Given the description of an element on the screen output the (x, y) to click on. 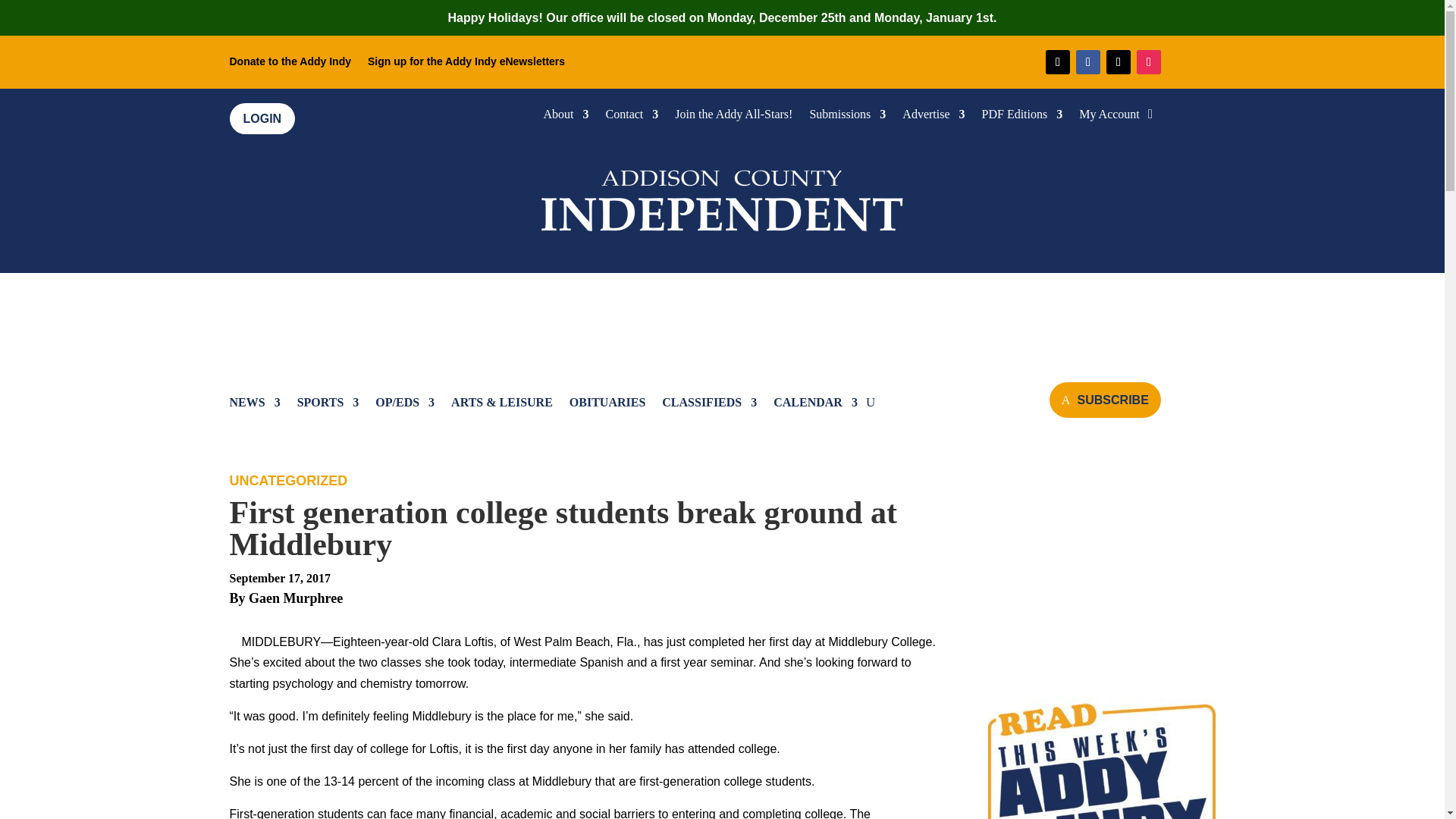
Follow on Facebook (1087, 61)
3rd party ad content (1100, 568)
addison-logo (721, 197)
3rd party ad content (722, 318)
Follow on Instagram (1148, 61)
Follow on X (1118, 61)
Donate to the Addy Indy (289, 64)
Join the Addy All-Stars! (733, 117)
Contact (632, 117)
Advertise (932, 117)
LOGIN (261, 118)
Submissions (847, 117)
Sign up for the Addy Indy eNewsletters (466, 64)
My Account (1109, 117)
About (566, 117)
